Given the description of an element on the screen output the (x, y) to click on. 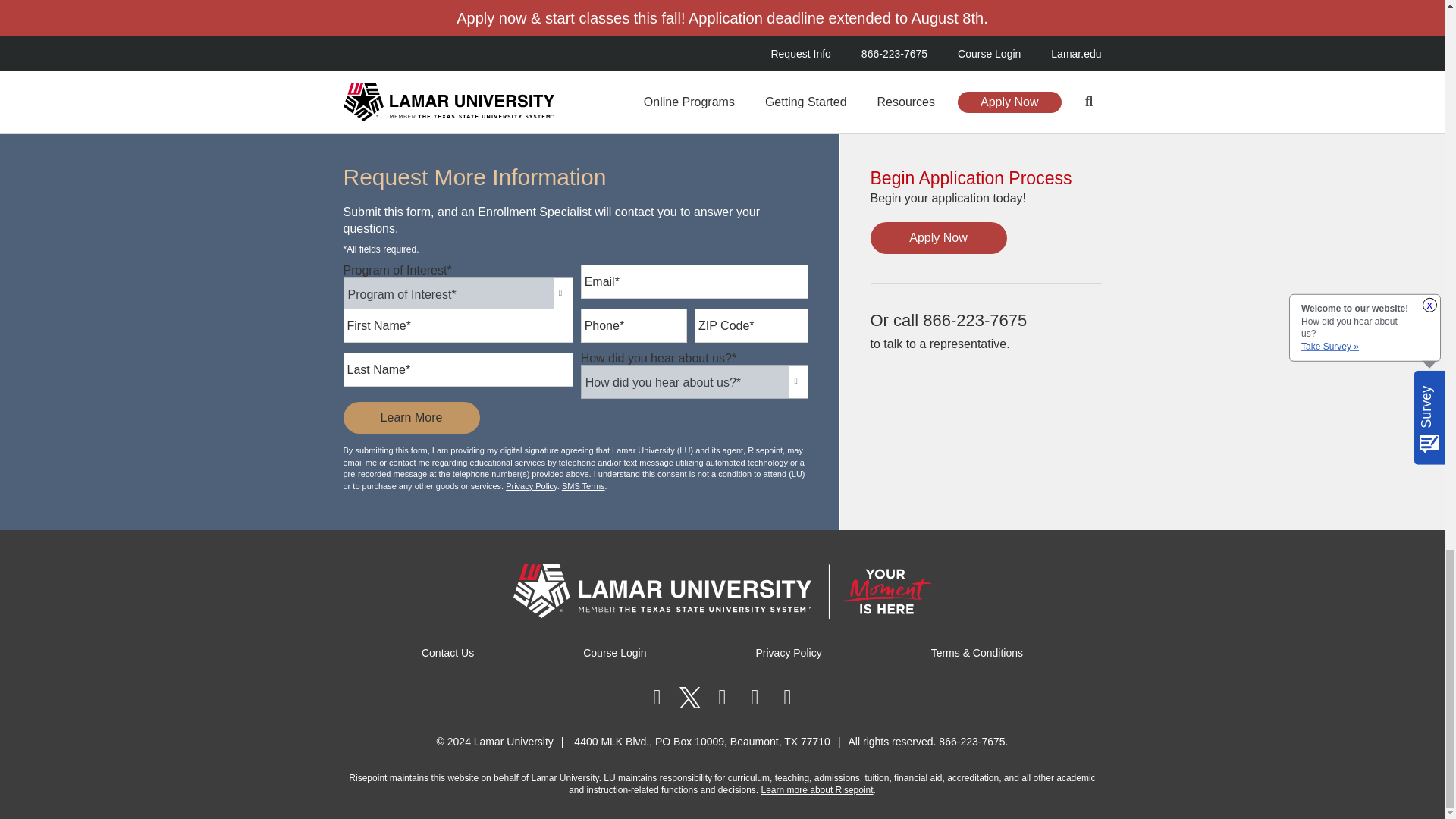
Learn More (410, 418)
